Given the description of an element on the screen output the (x, y) to click on. 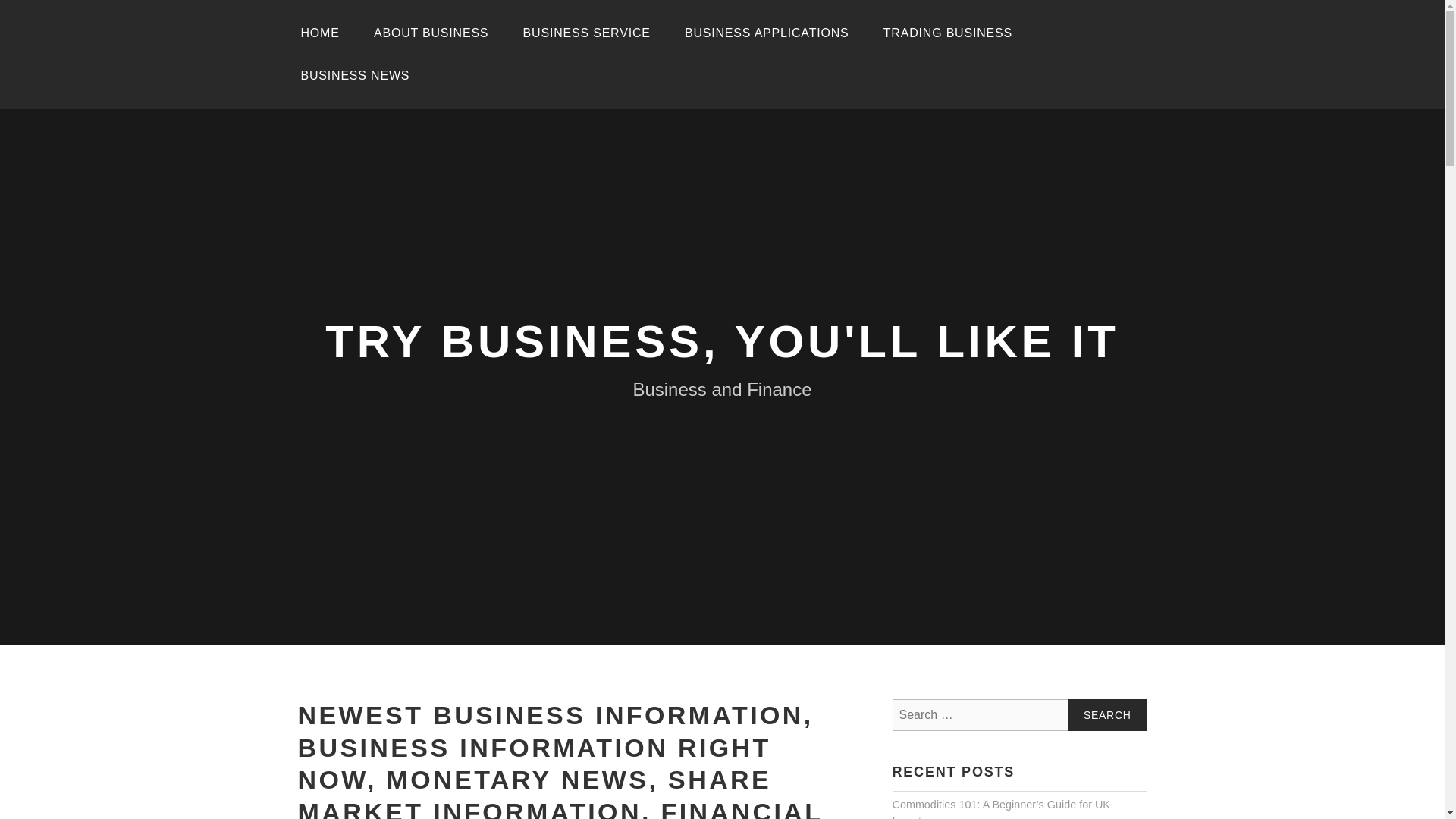
BUSINESS SERVICE (586, 33)
TRADING BUSINESS (947, 33)
TRY BUSINESS, YOU'LL LIKE IT (721, 341)
HOME (319, 33)
BUSINESS APPLICATIONS (766, 33)
Search (1107, 715)
BUSINESS NEWS (355, 75)
Search (1107, 715)
ABOUT BUSINESS (430, 33)
Search (1107, 715)
